Given the description of an element on the screen output the (x, y) to click on. 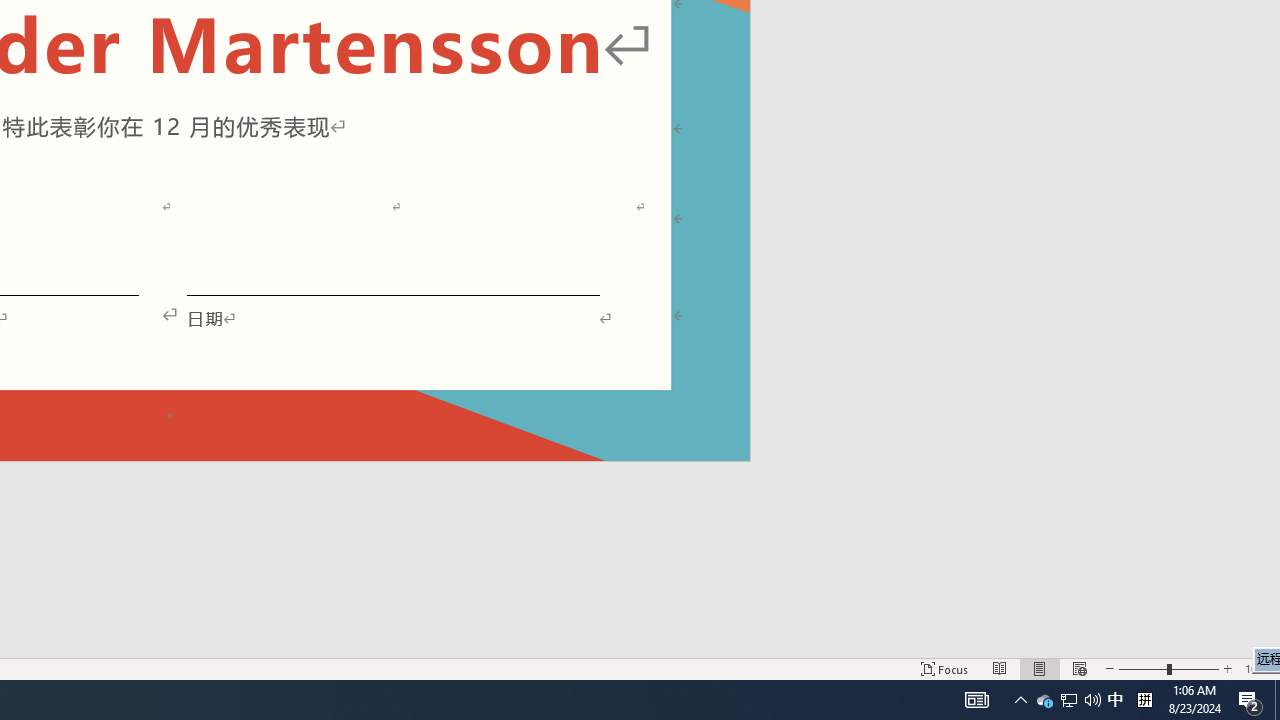
Web Layout (1079, 668)
Focus  (944, 668)
Zoom (1168, 668)
Zoom In (1227, 668)
Zoom 104% (1258, 668)
Print Layout (1039, 668)
Read Mode (1000, 668)
Zoom Out (1142, 668)
